Given the description of an element on the screen output the (x, y) to click on. 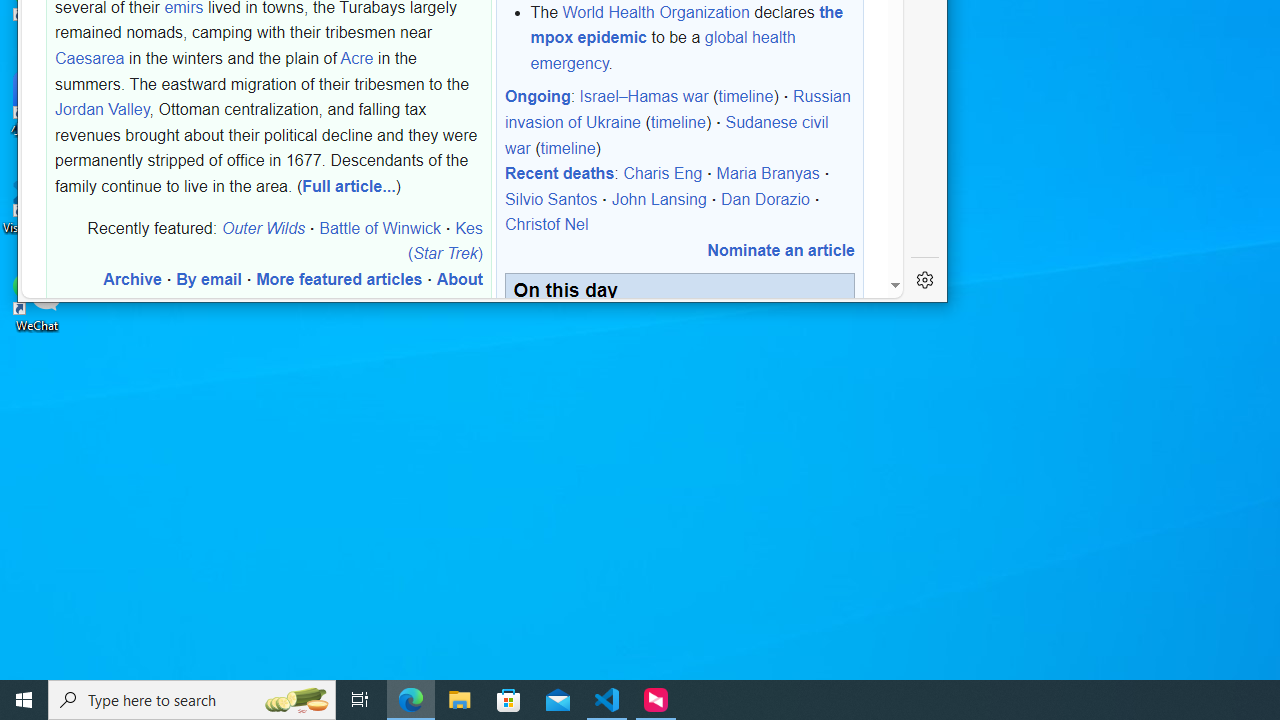
(timeline) (568, 147)
Battle of Winwick (379, 227)
Charis Eng (662, 173)
Nominate an article (780, 250)
Search highlights icon opens search home window (295, 699)
World Health Organization (655, 11)
Kes (Star Trek) (444, 240)
Jordan Valley (102, 109)
